Given the description of an element on the screen output the (x, y) to click on. 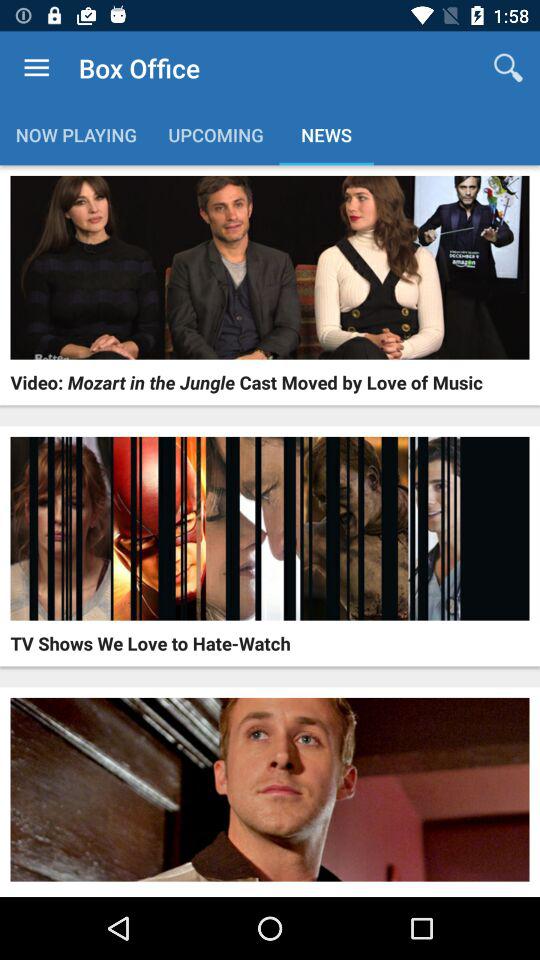
tap item at the top right corner (508, 67)
